Given the description of an element on the screen output the (x, y) to click on. 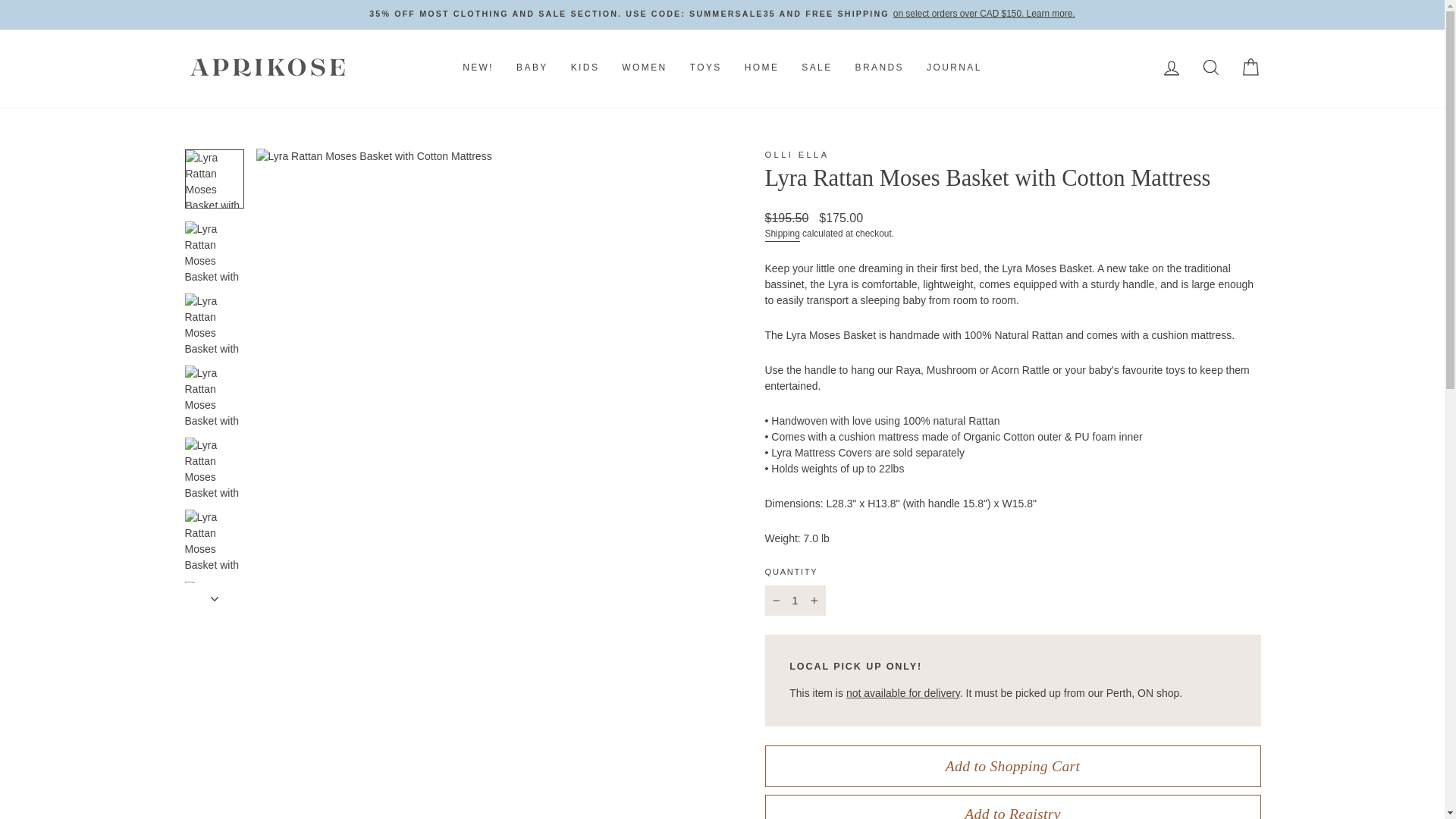
Add to Registry (1012, 806)
1 (794, 600)
